Given the description of an element on the screen output the (x, y) to click on. 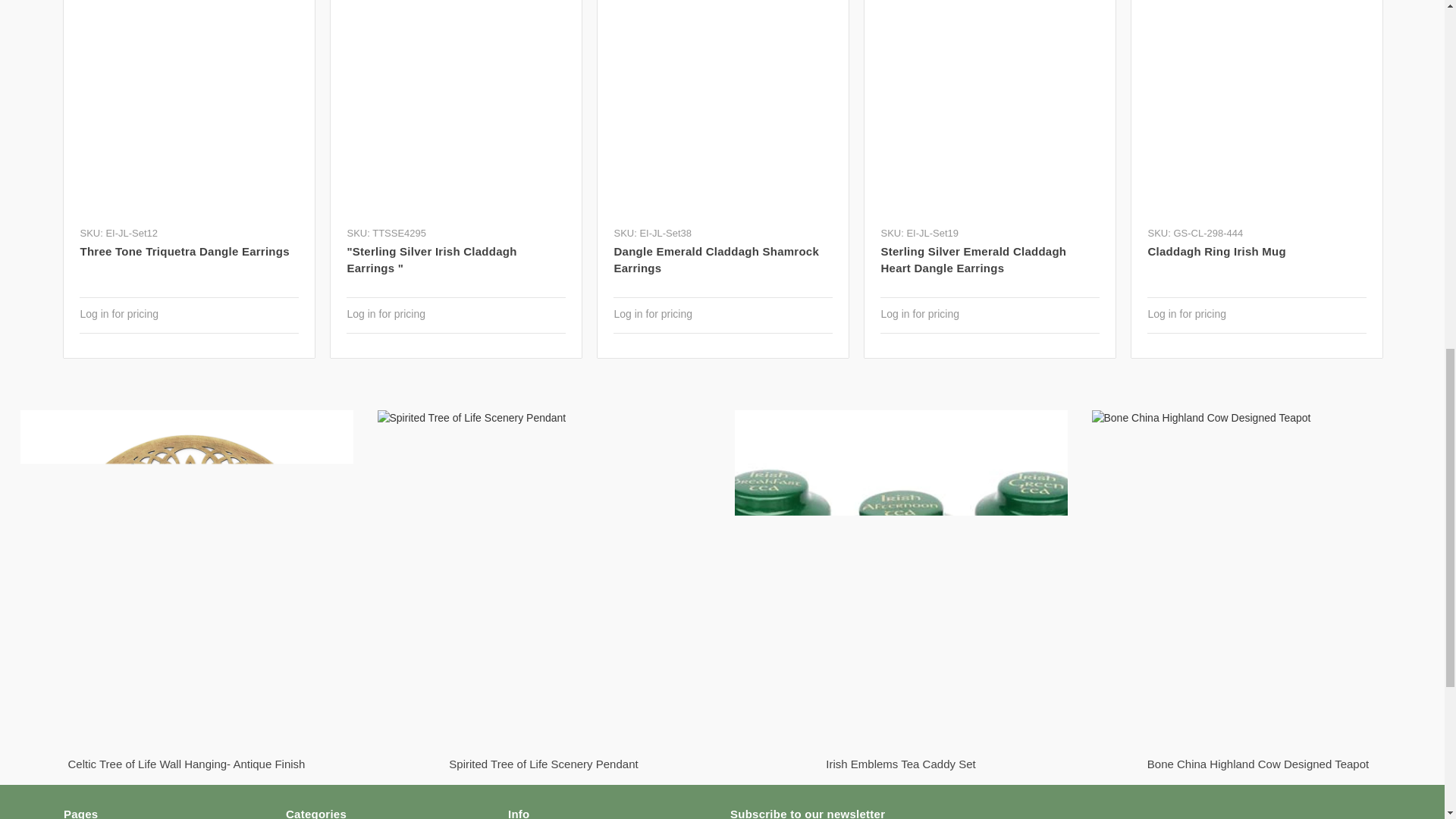
GS-CL-298-444 Claddagh Irish Mug (1256, 108)
Sterling Silver Emerald Claddagh Heart Dangle Earrrings (989, 108)
Three Tone Triquetra Dangle Earrings (189, 108)
"Sterling Silver Irish Claddagh Earrings " (455, 108)
Dangle Emerald Claddagh Shamrock Earrings (721, 108)
